Given the description of an element on the screen output the (x, y) to click on. 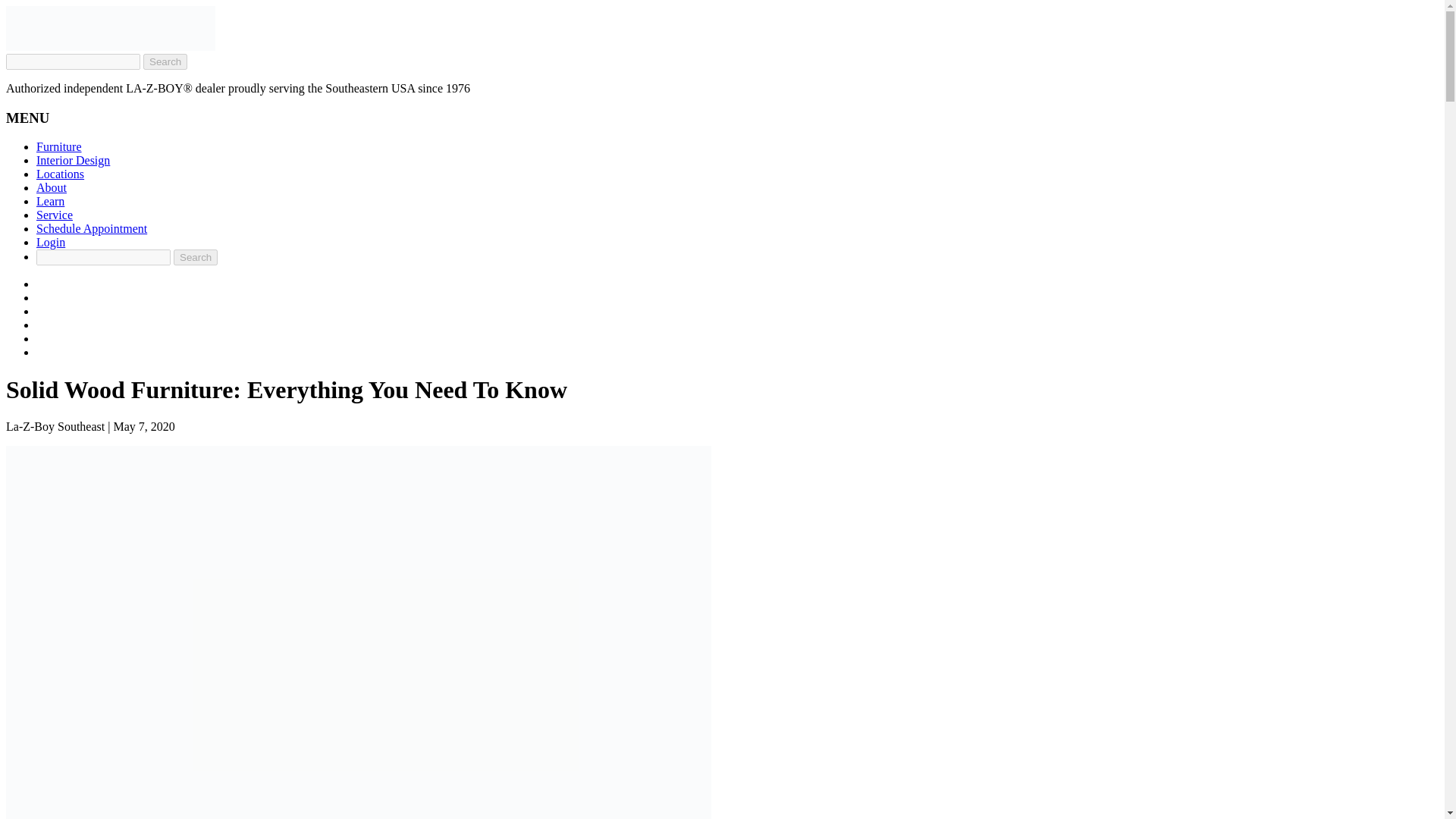
Search (164, 61)
Search (194, 257)
About (51, 187)
Service (54, 214)
Interior Design (73, 160)
Schedule Appointment (91, 228)
Learn (50, 201)
Furniture (58, 146)
Login (50, 241)
Search (194, 257)
Locations (60, 173)
Search (164, 61)
La-Z-Boy Furniture Academy Logo (110, 27)
La-Z-Boy Southeast (110, 46)
